Given the description of an element on the screen output the (x, y) to click on. 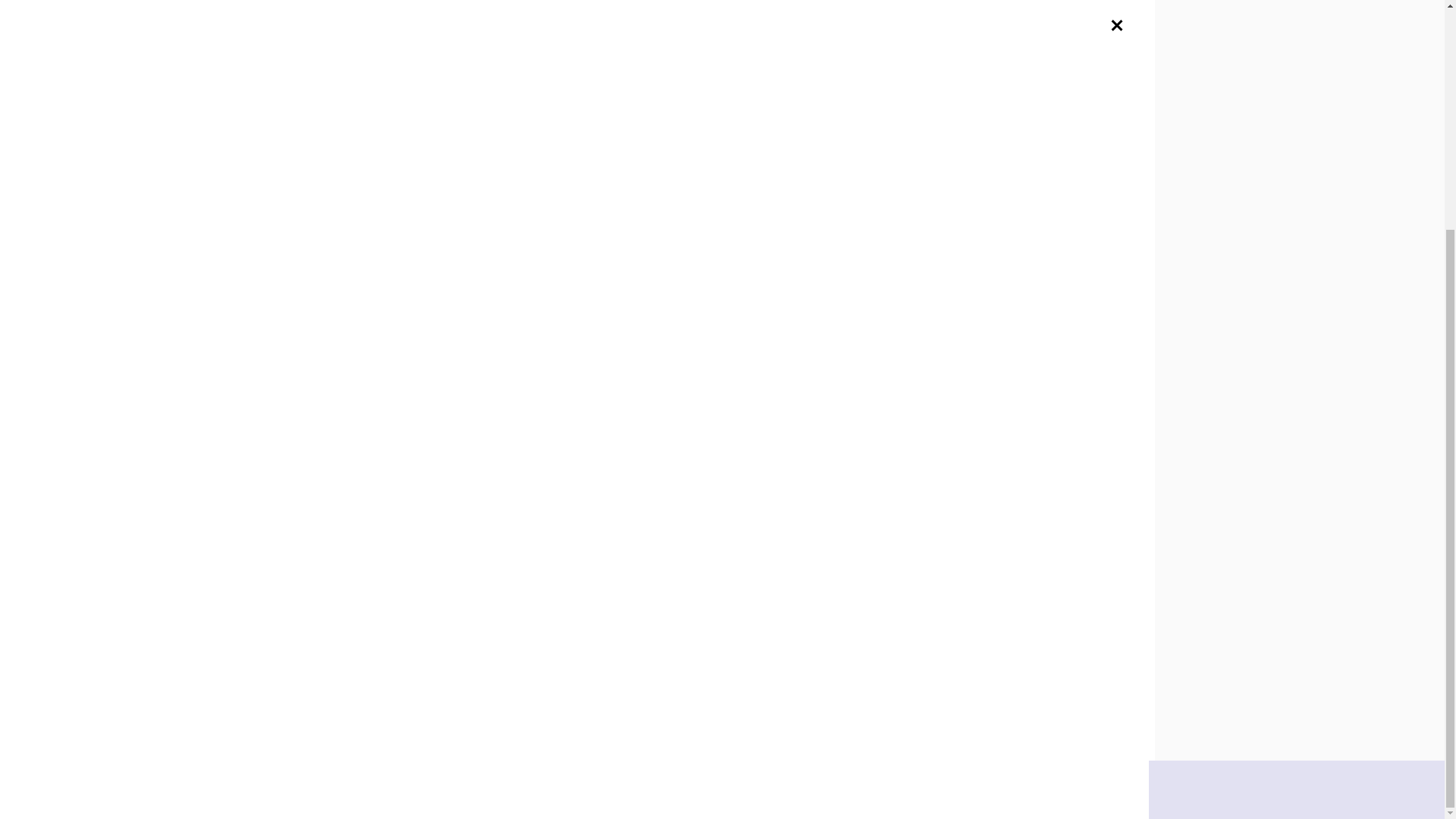
Posts by jodi stewart (370, 473)
Posts by jodi stewart (586, 601)
